Given the description of an element on the screen output the (x, y) to click on. 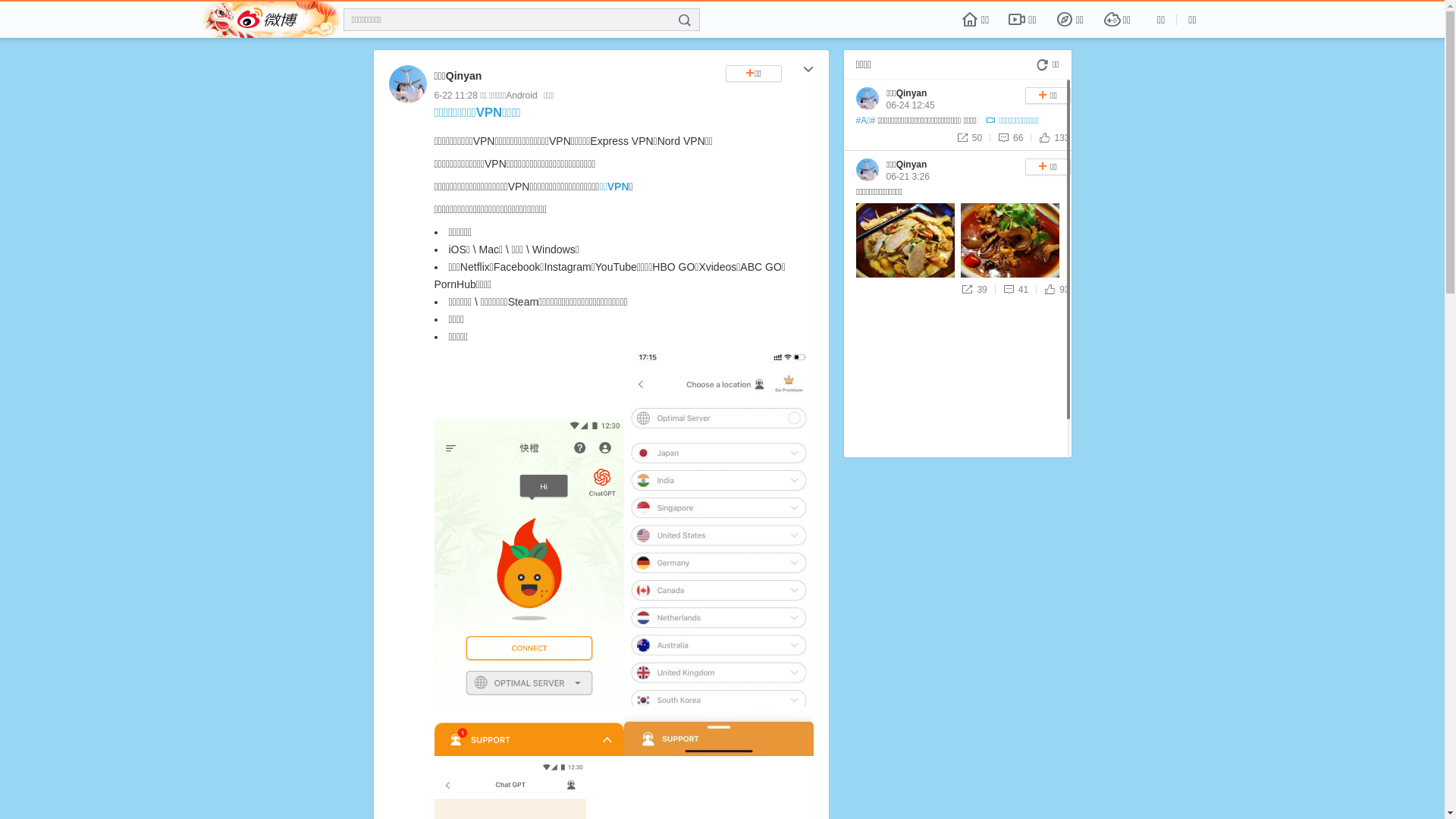
f Element type: text (684, 20)
6-22 11:28 Element type: text (454, 95)
06-24 12:45 Element type: text (909, 105)
c Element type: text (808, 70)
06-21 3:26 Element type: text (906, 176)
